Given the description of an element on the screen output the (x, y) to click on. 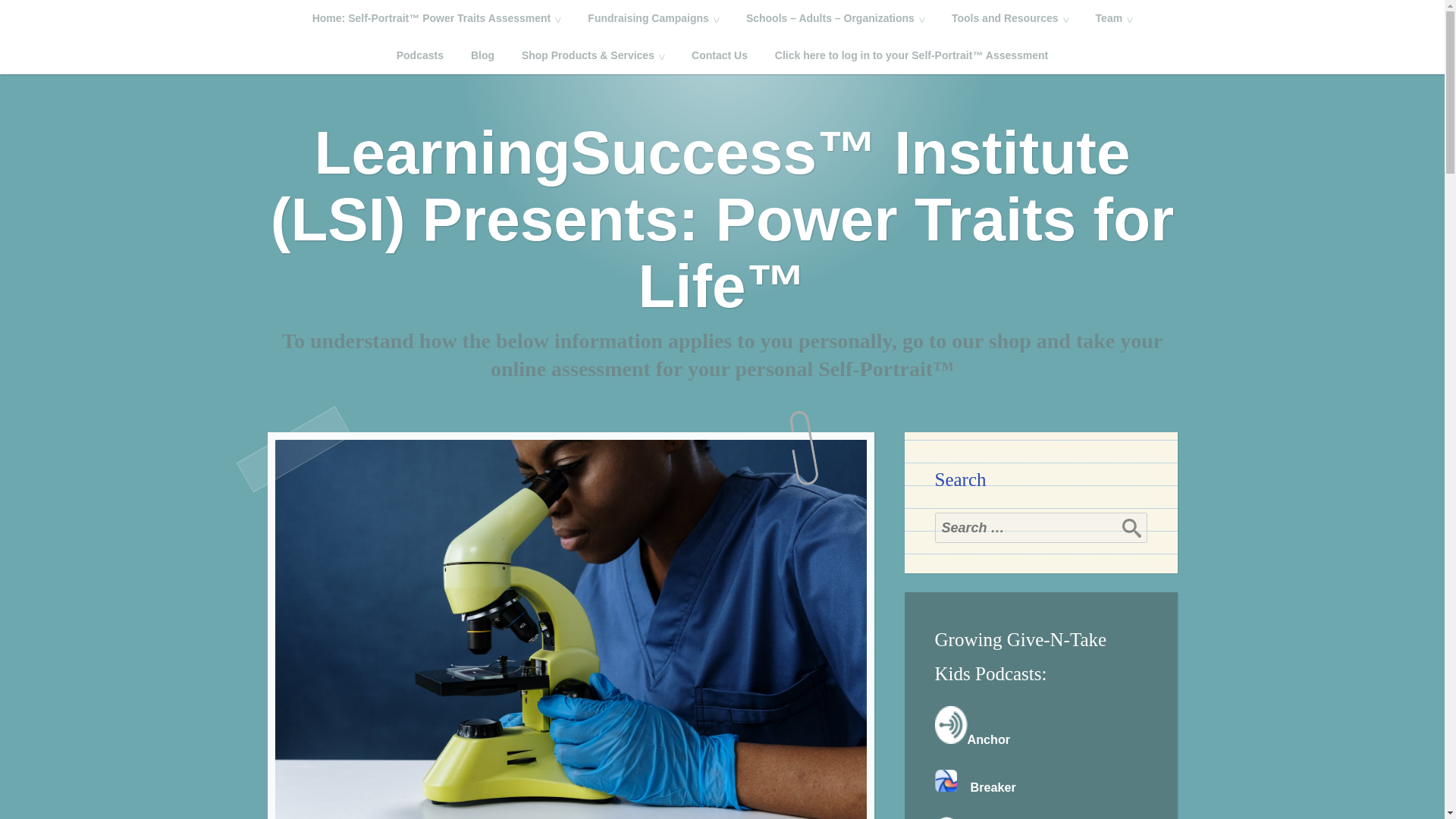
Search (1131, 527)
Search (1131, 527)
